Given the description of an element on the screen output the (x, y) to click on. 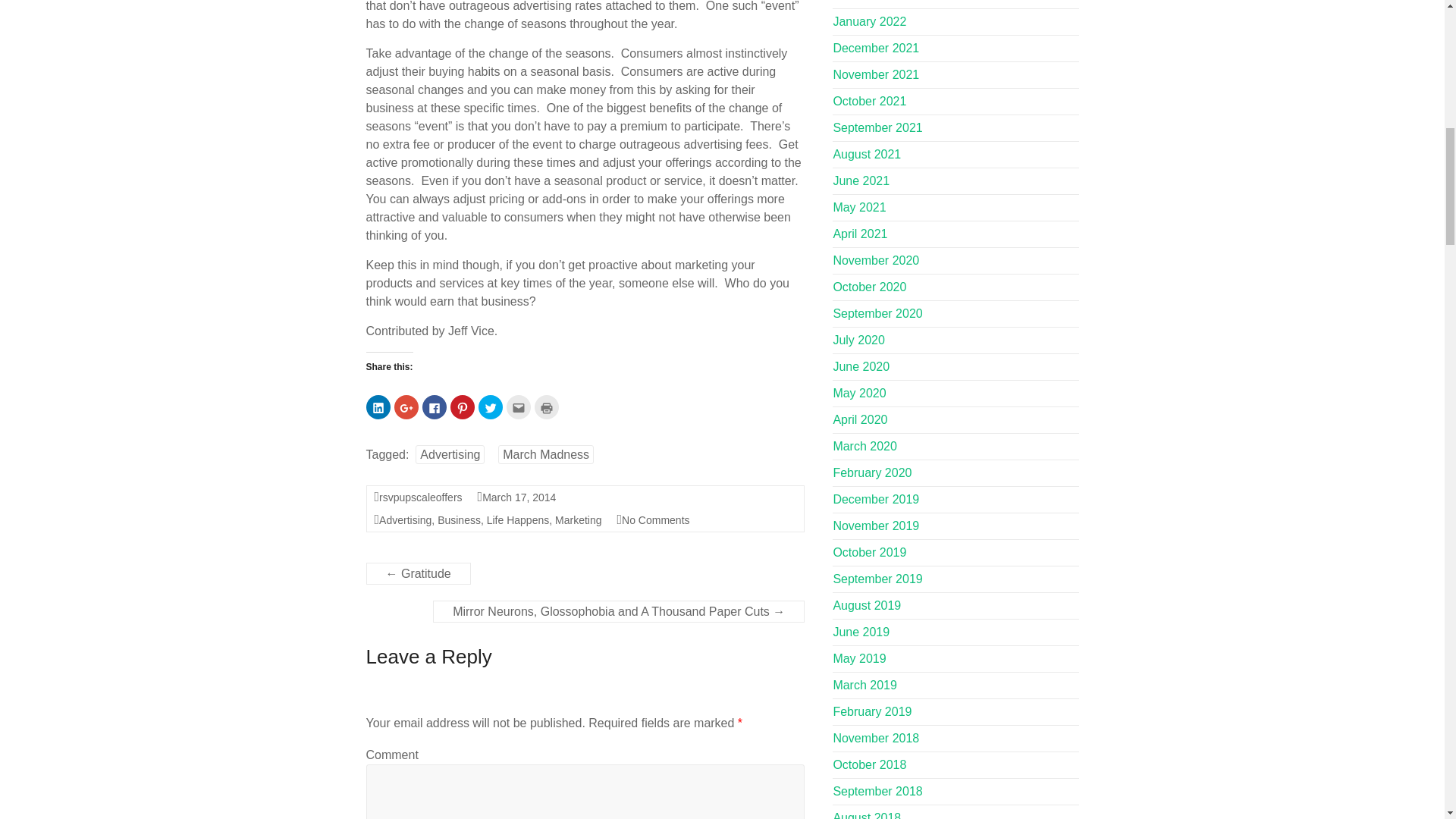
rsvpupscaleoffers (419, 497)
Click to share on Facebook (433, 406)
2:43 pm (518, 497)
Click to print (545, 406)
March Madness (545, 454)
Click to email this to a friend (518, 406)
Advertising (449, 454)
Advertising (404, 520)
Marketing (577, 520)
Life Happens (518, 520)
